Given the description of an element on the screen output the (x, y) to click on. 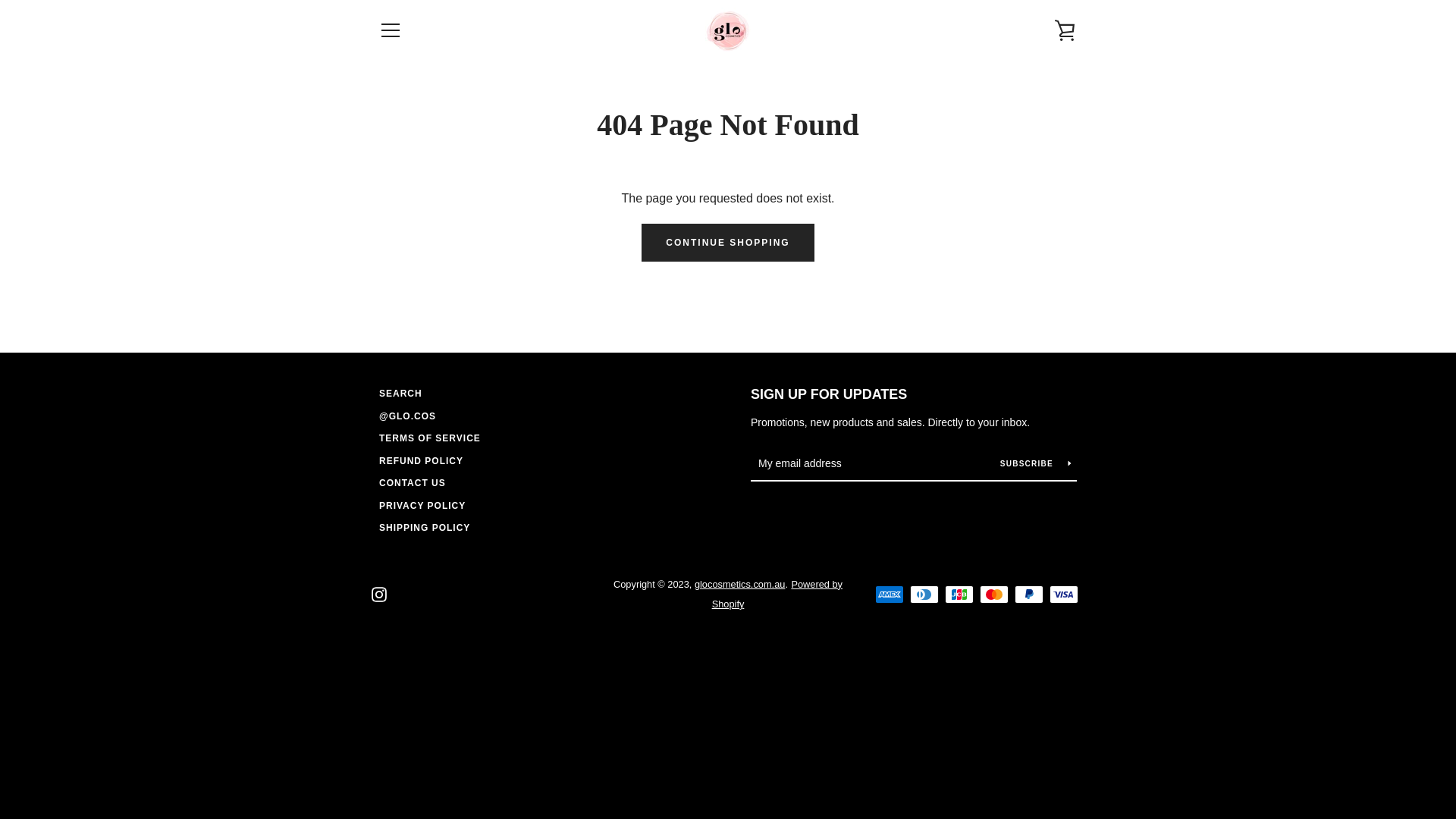
glocosmetics.com.au Element type: text (739, 583)
CONTINUE SHOPPING Element type: text (727, 242)
VIEW CART Element type: text (1065, 30)
MENU Element type: text (390, 30)
@GLO.COS Element type: text (407, 416)
SEARCH Element type: text (400, 393)
SUBSCRIBE Element type: text (1035, 463)
PRIVACY POLICY Element type: text (422, 505)
Instagram Element type: text (378, 592)
SHIPPING POLICY Element type: text (424, 527)
Powered by Shopify Element type: text (777, 593)
Skip to content Element type: text (0, 0)
TERMS OF SERVICE Element type: text (429, 438)
CONTACT US Element type: text (412, 482)
REFUND POLICY Element type: text (421, 460)
